Given the description of an element on the screen output the (x, y) to click on. 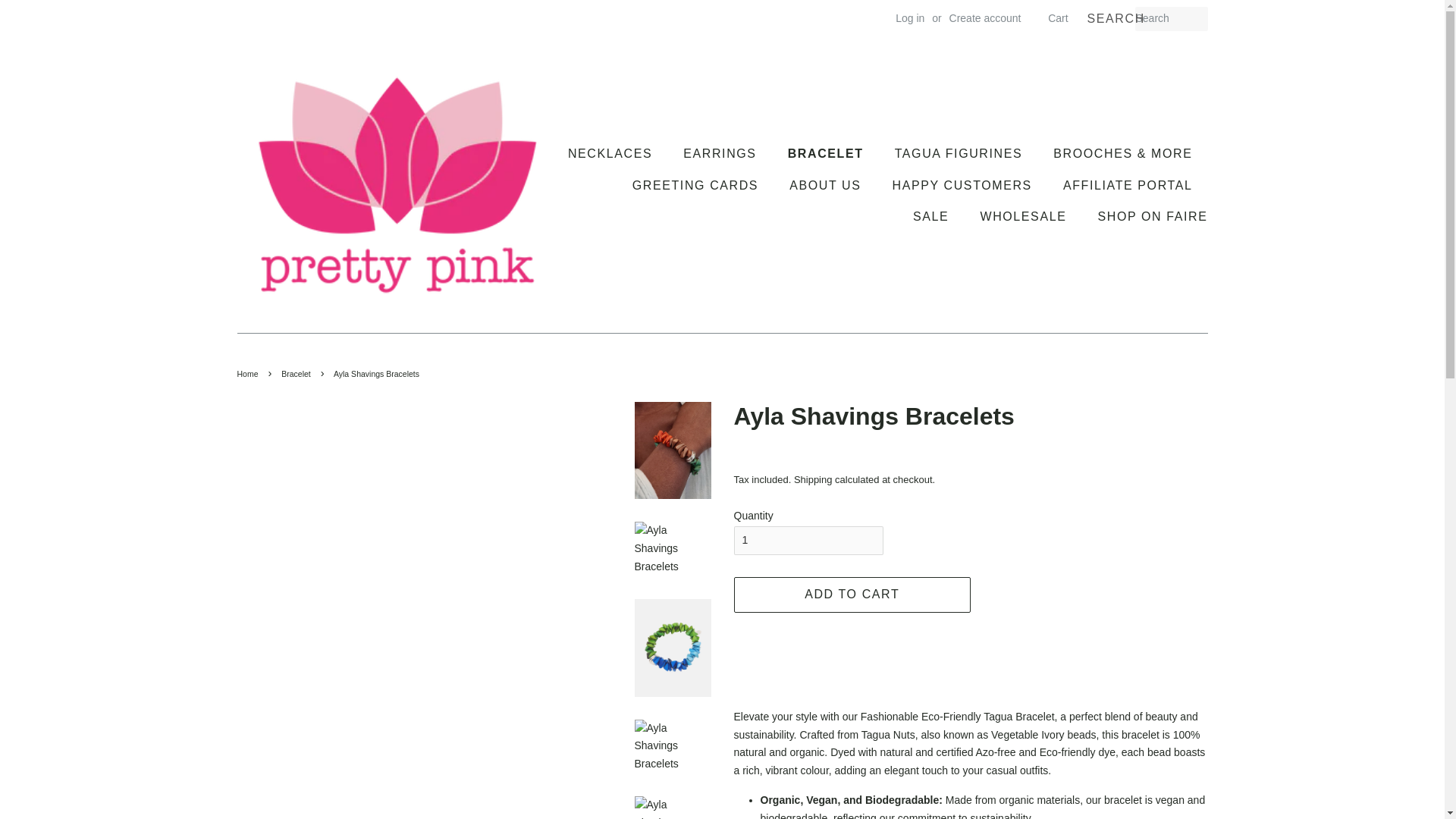
SALE (932, 215)
BRACELET (827, 153)
SEARCH (1110, 18)
1 (808, 540)
EARRINGS (721, 153)
TAGUA FIGURINES (960, 153)
Home (248, 373)
ABOUT US (826, 184)
GREETING CARDS (697, 184)
WHOLESALE (1024, 215)
Log in (909, 18)
NECKLACES (616, 153)
Cart (1057, 18)
AFFILIATE PORTAL (1129, 184)
SHOP ON FAIRE (1146, 215)
